Given the description of an element on the screen output the (x, y) to click on. 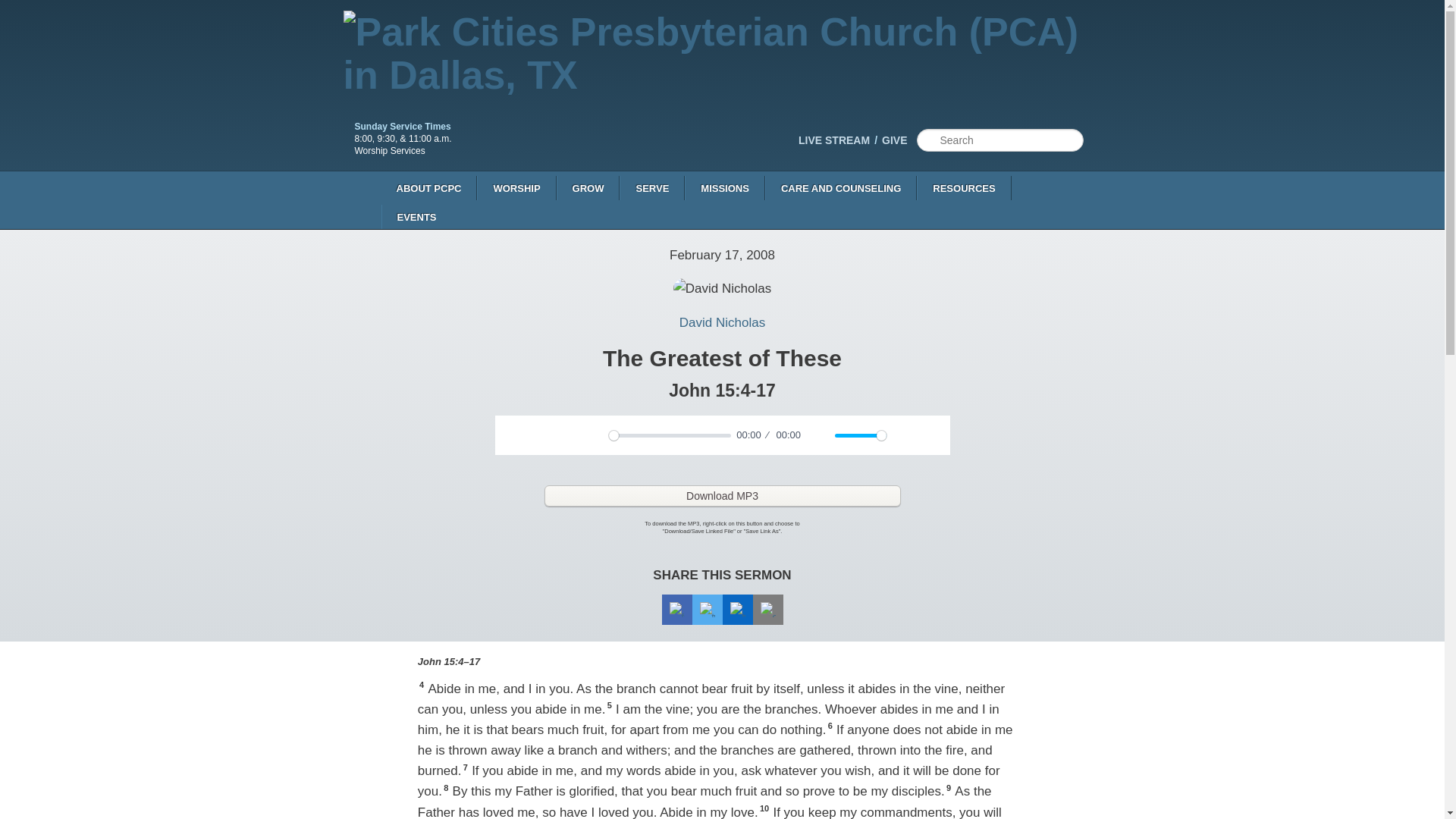
0 (669, 435)
GIVE (898, 140)
LIVE STREAM (839, 140)
GROW (588, 187)
WORSHIP (516, 187)
ABOUT PCPC (428, 187)
1 (859, 435)
